Given the description of an element on the screen output the (x, y) to click on. 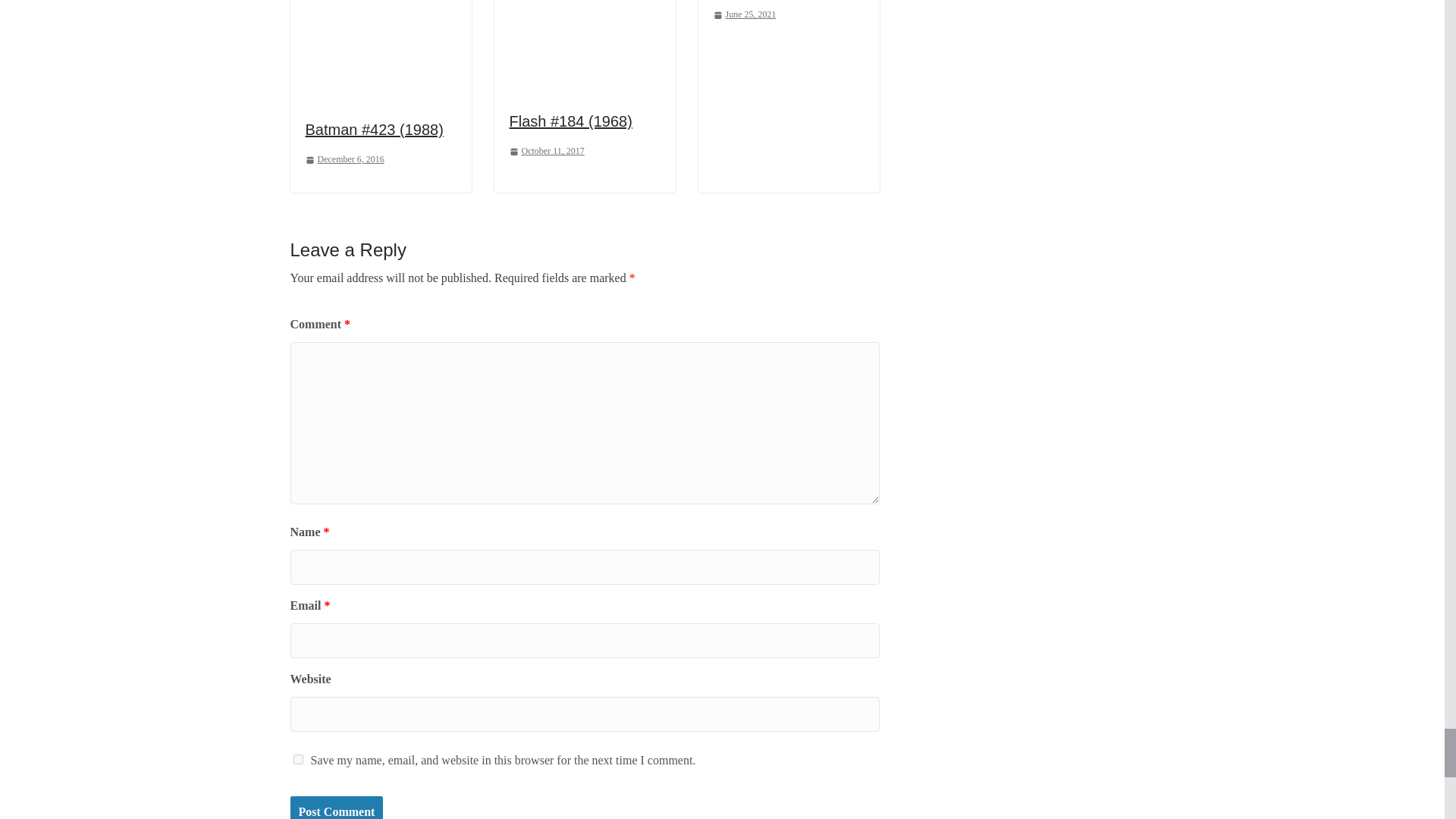
Post Comment (335, 807)
yes (297, 759)
6:24 am (344, 159)
